Given the description of an element on the screen output the (x, y) to click on. 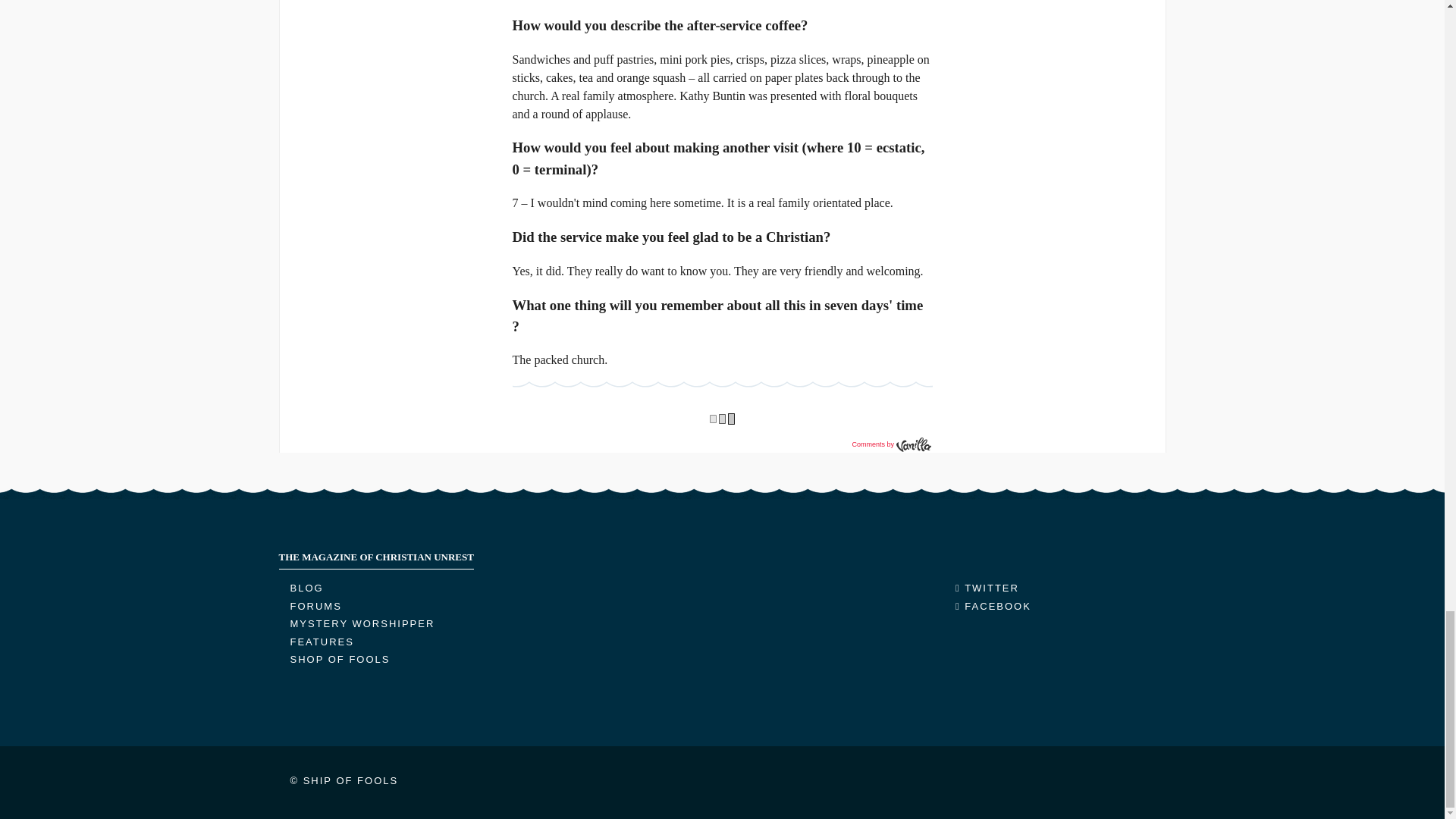
FORUMS (314, 605)
MYSTERY WORSHIPPER (361, 623)
SHOP OF FOOLS (339, 659)
TWITTER (987, 587)
FEATURES (321, 641)
BLOG (306, 587)
FACEBOOK (992, 605)
Comments by Vanilla (890, 443)
